Given the description of an element on the screen output the (x, y) to click on. 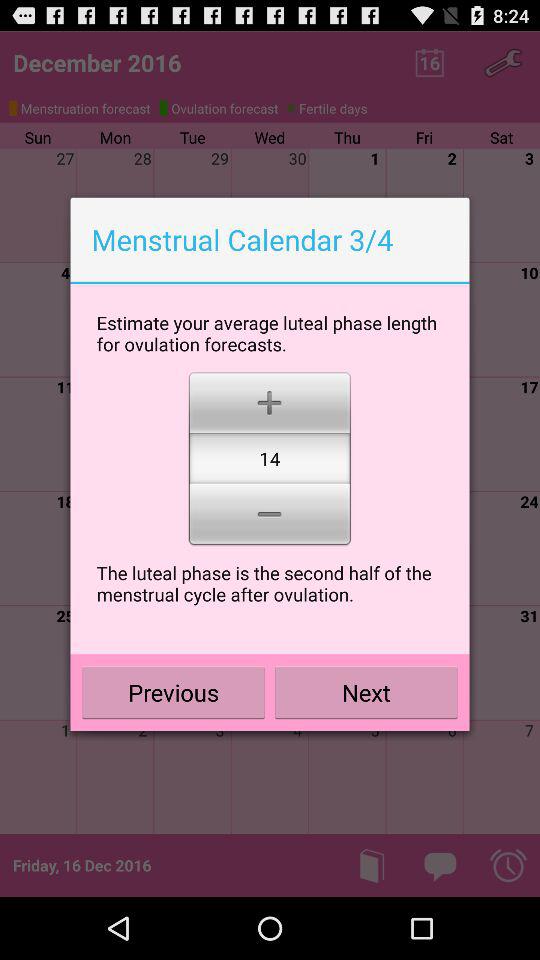
flip to the next icon (366, 692)
